Given the description of an element on the screen output the (x, y) to click on. 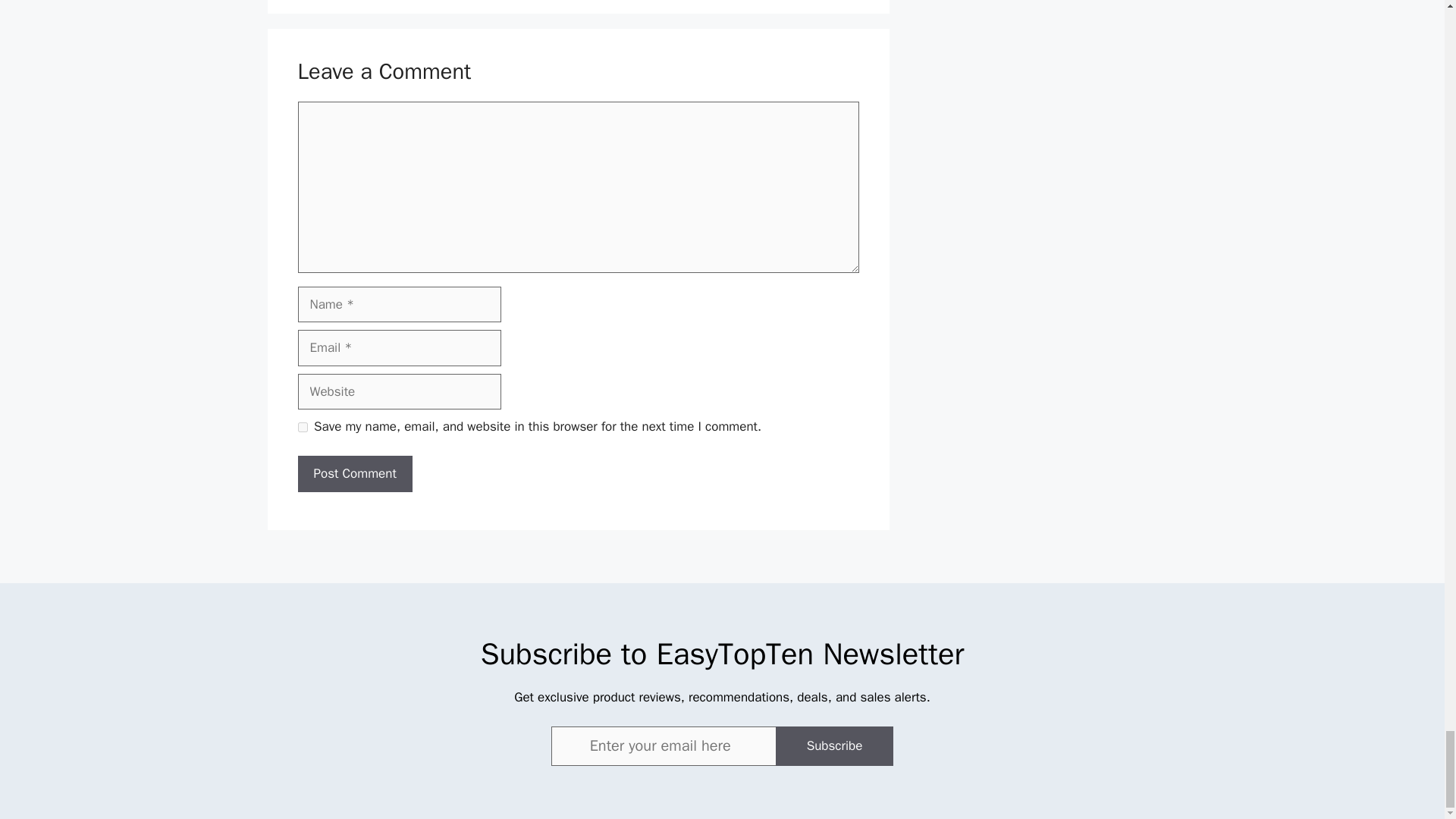
yes (302, 427)
Post Comment (354, 473)
Post Comment (354, 473)
Subscribe (834, 745)
Subscribe (834, 745)
